Given the description of an element on the screen output the (x, y) to click on. 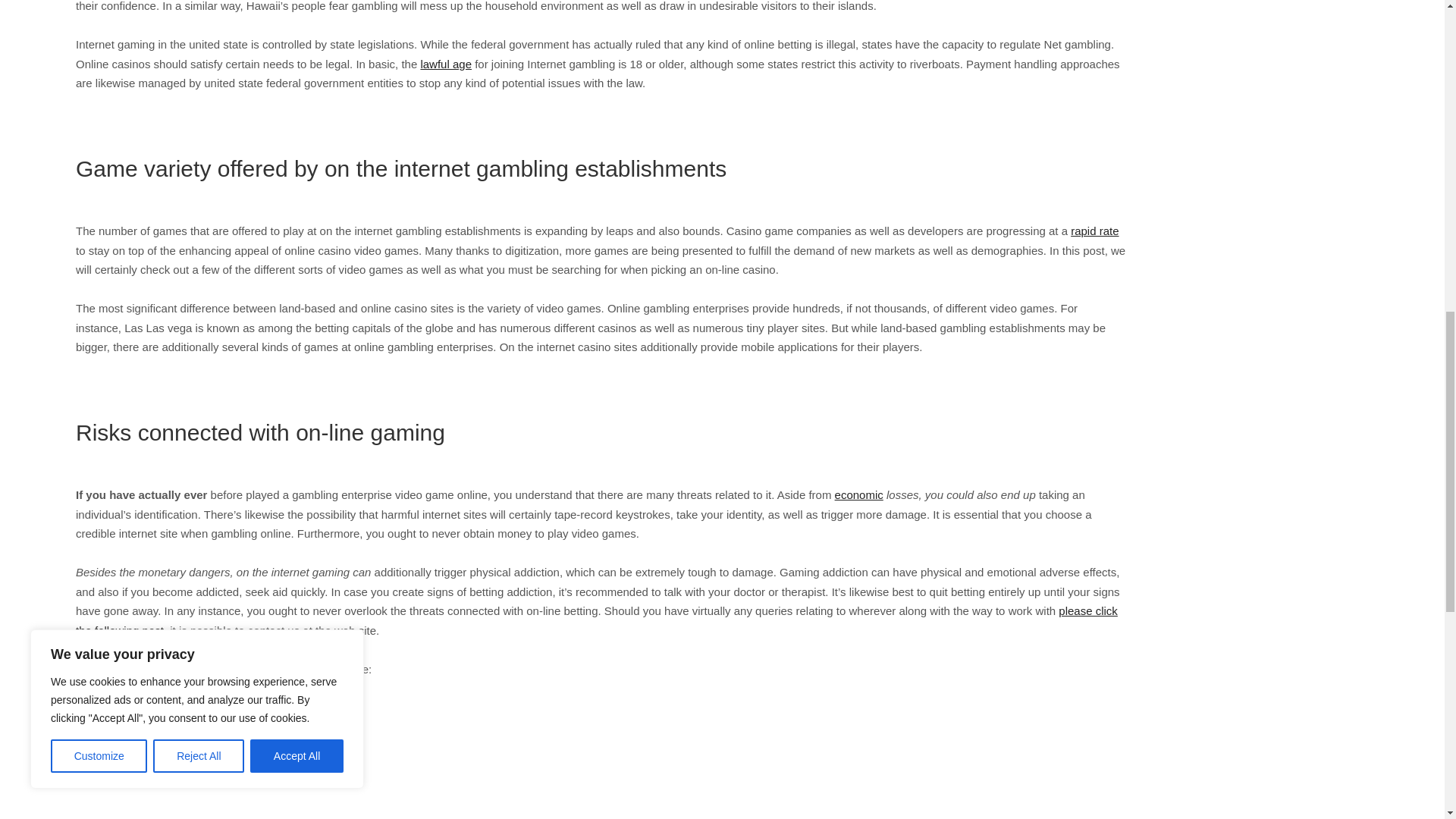
Simply click the up coming webpage (167, 726)
please click the following post (596, 620)
economic (858, 494)
rapid rate (1094, 230)
lawful age (445, 63)
visit this web page link (132, 765)
